Given the description of an element on the screen output the (x, y) to click on. 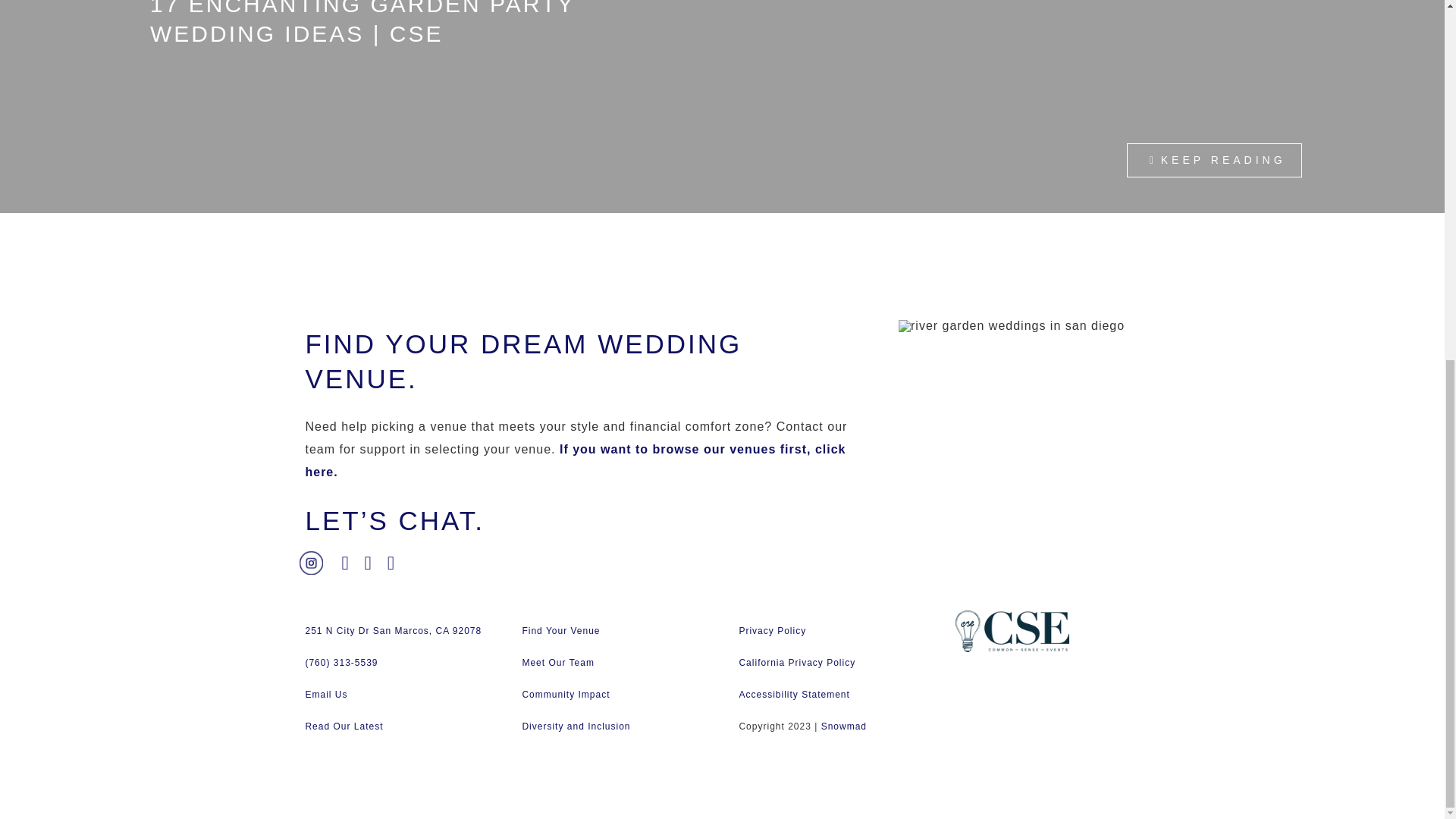
Read Our Latest (343, 726)
If you want to browse our venues first, click here. (574, 460)
Meet Our Team (557, 662)
Diversity and Inclusion (575, 726)
Find Your Venue (560, 630)
251 N City Dr San Marcos, CA 92078 (392, 630)
river garden weddings in san diego (1011, 326)
KEEP READING (1213, 160)
Privacy Policy (772, 630)
Community Impact (565, 694)
